Given the description of an element on the screen output the (x, y) to click on. 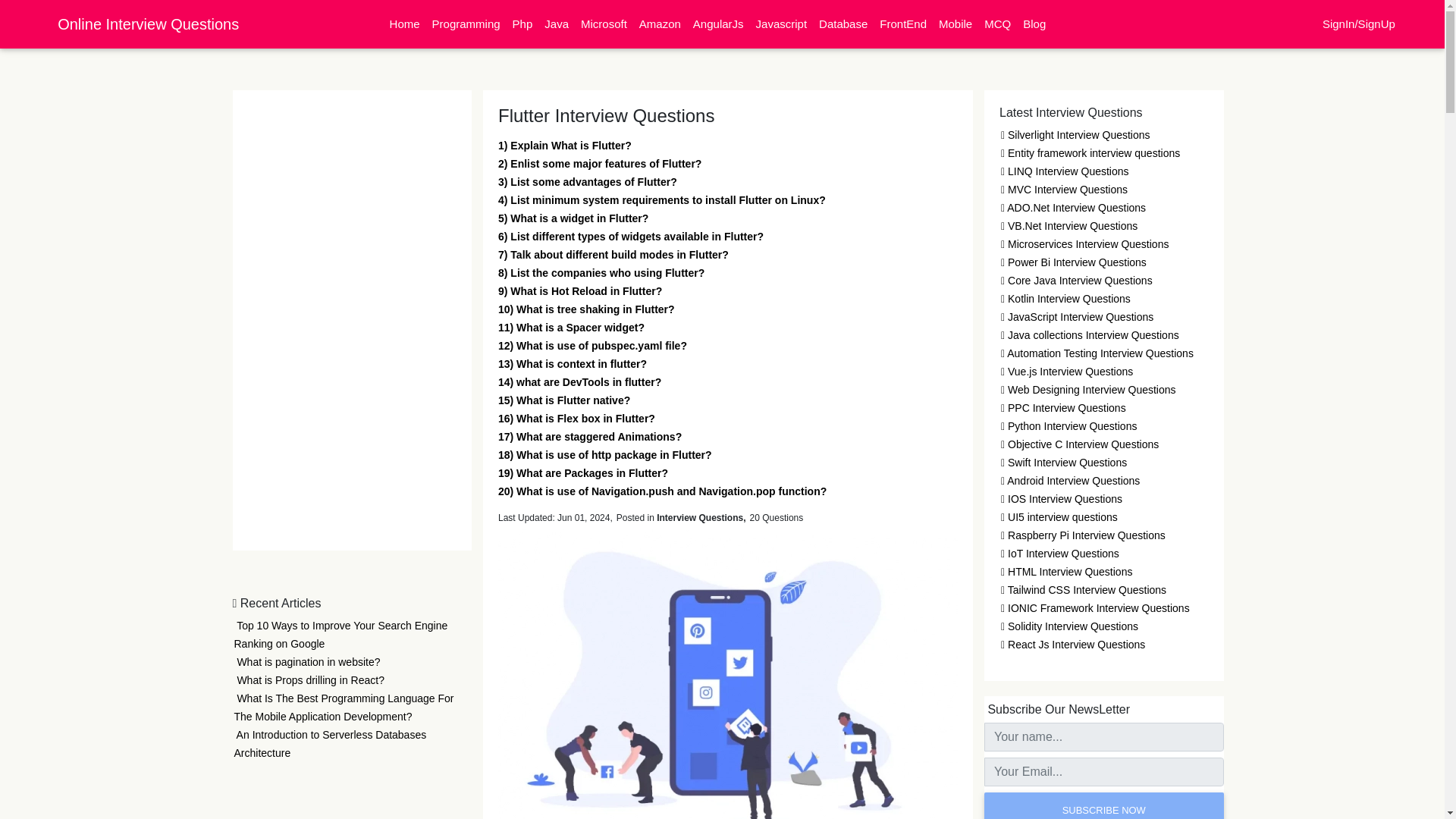
What is Props drilling in React? (308, 680)
Flutter Interview Questions (727, 674)
Programming (466, 24)
Amazon (660, 24)
Database (842, 24)
An Introduction to Serverless Databases Architecture (329, 743)
Top 10 Ways to Improve Your Search Engine Ranking on Google (339, 634)
What is pagination in website? (306, 662)
FrontEnd (903, 24)
Java (556, 24)
